Given the description of an element on the screen output the (x, y) to click on. 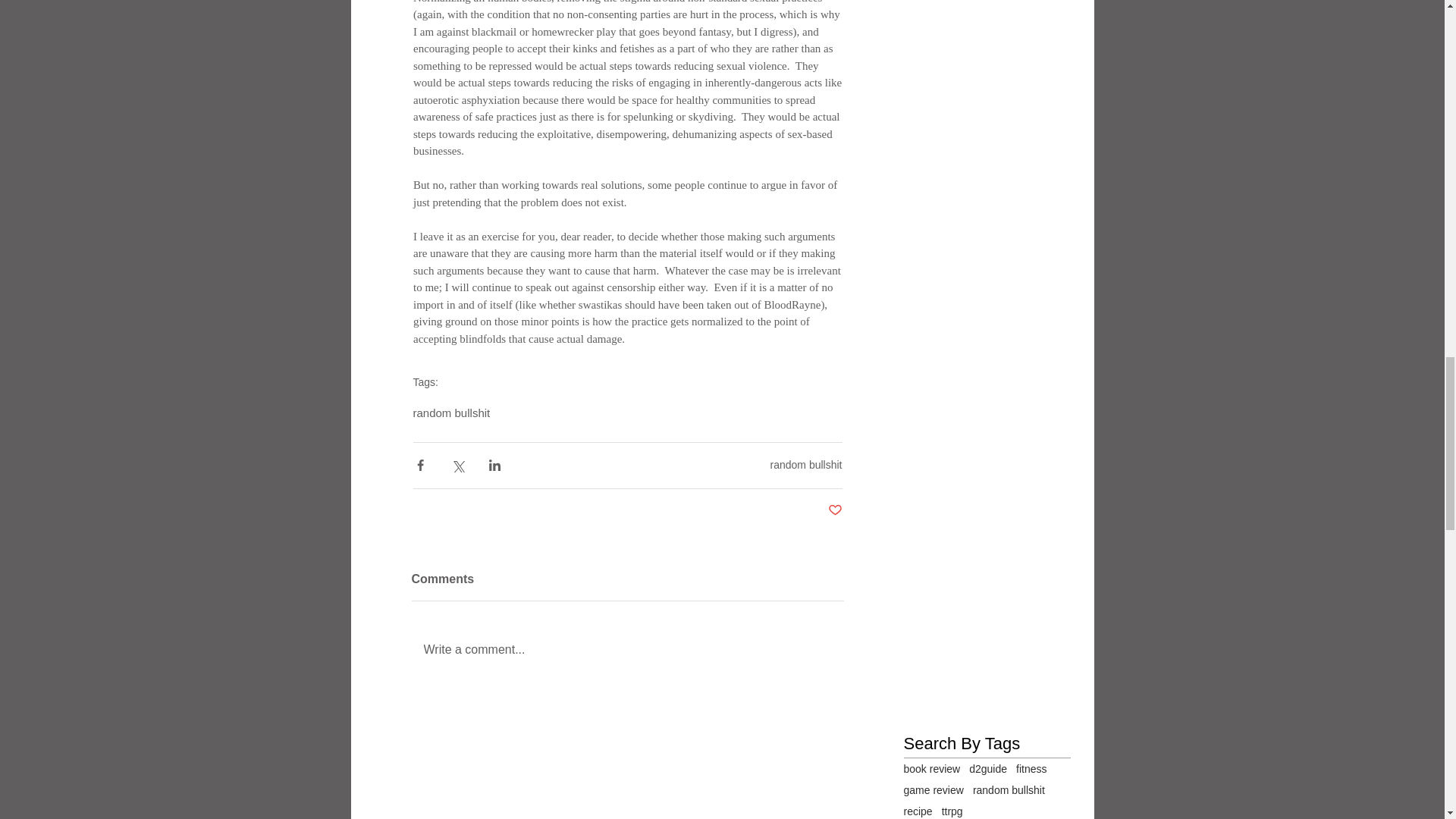
Post not marked as liked (835, 510)
random bullshit (806, 464)
book review (932, 768)
random bullshit (450, 412)
d2guide (988, 768)
Write a comment... (626, 649)
fitness (1031, 768)
